Given the description of an element on the screen output the (x, y) to click on. 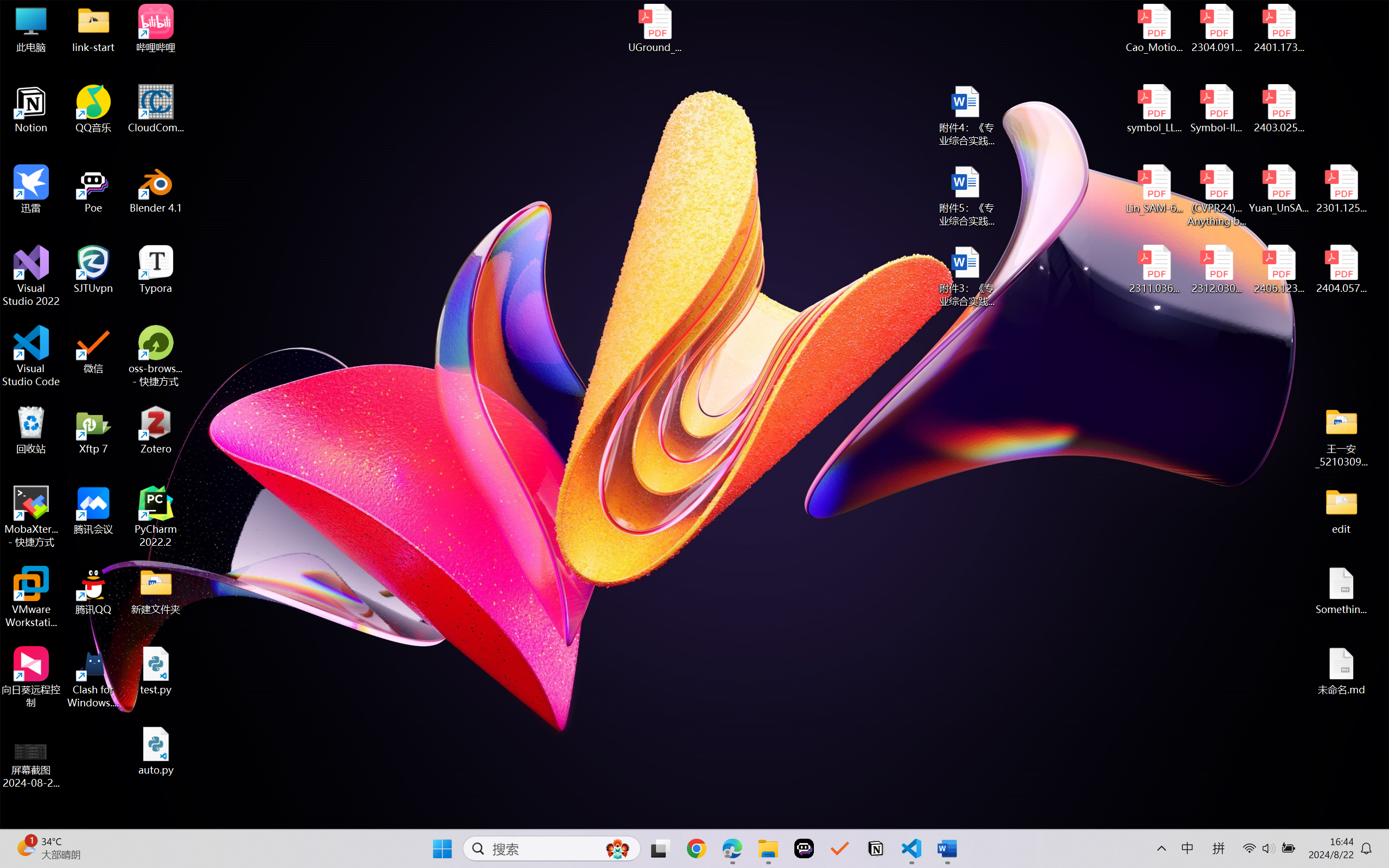
2404.05719v1.pdf (1340, 269)
SJTUvpn (93, 269)
symbol_LLM.pdf (1154, 109)
2311.03658v2.pdf (1154, 269)
Visual Studio Code (31, 355)
PyCharm 2022.2 (156, 516)
2406.12373v2.pdf (1278, 269)
